Given the description of an element on the screen output the (x, y) to click on. 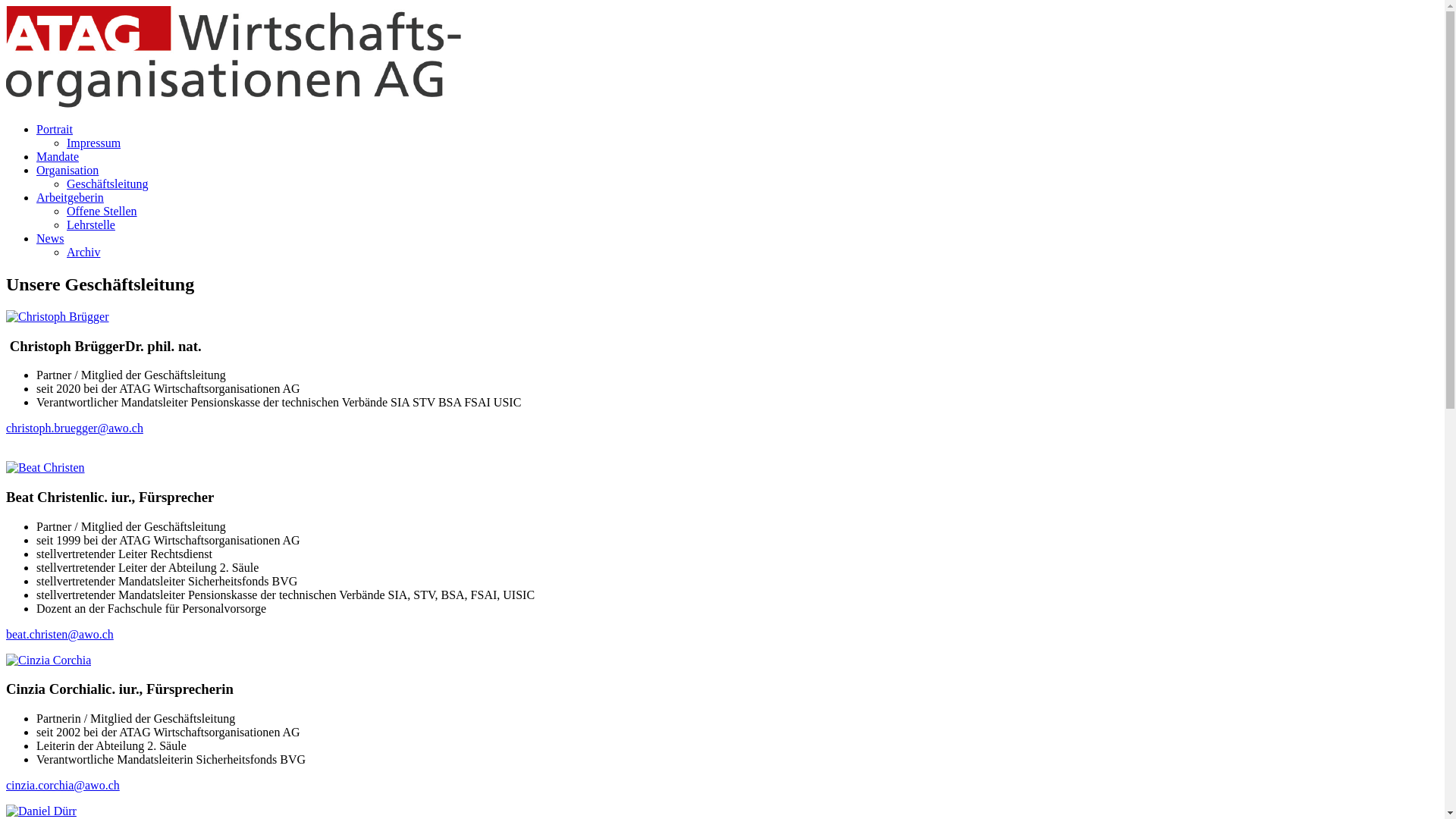
beat.christen@awo.ch Element type: text (59, 633)
Mandate Element type: text (57, 156)
Portrait Element type: text (54, 128)
Arbeitgeberin Element type: text (69, 197)
Organisation Element type: text (67, 169)
Beat Christen Element type: hover (45, 467)
Offene Stellen Element type: text (101, 210)
Impressum Element type: text (93, 142)
Lehrstelle Element type: text (90, 224)
cinzia.corchia@awo.ch Element type: text (62, 784)
Archiv Element type: text (83, 251)
Cinzia Corchia Element type: hover (48, 659)
christoph.bruegger@awo.ch Element type: text (74, 427)
News Element type: text (49, 238)
